Given the description of an element on the screen output the (x, y) to click on. 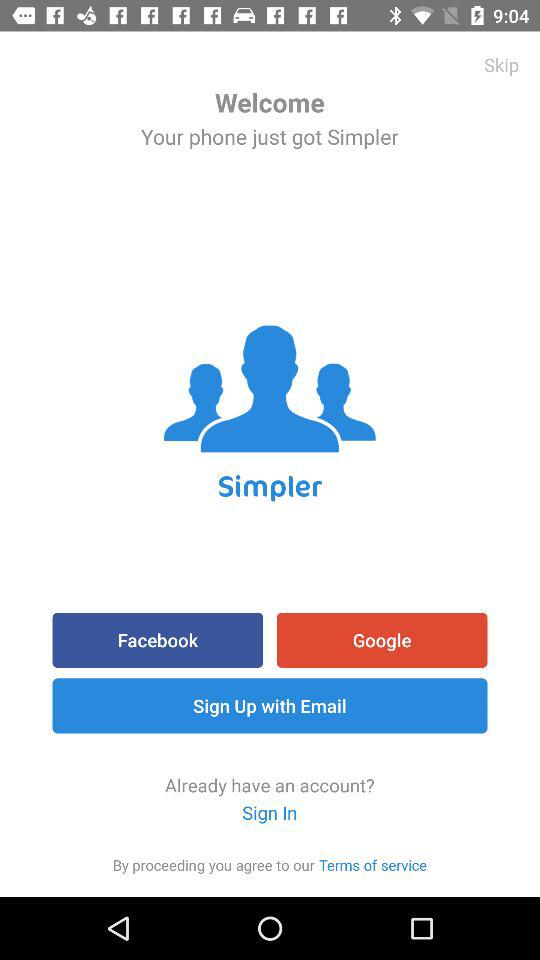
select google icon (381, 639)
